Given the description of an element on the screen output the (x, y) to click on. 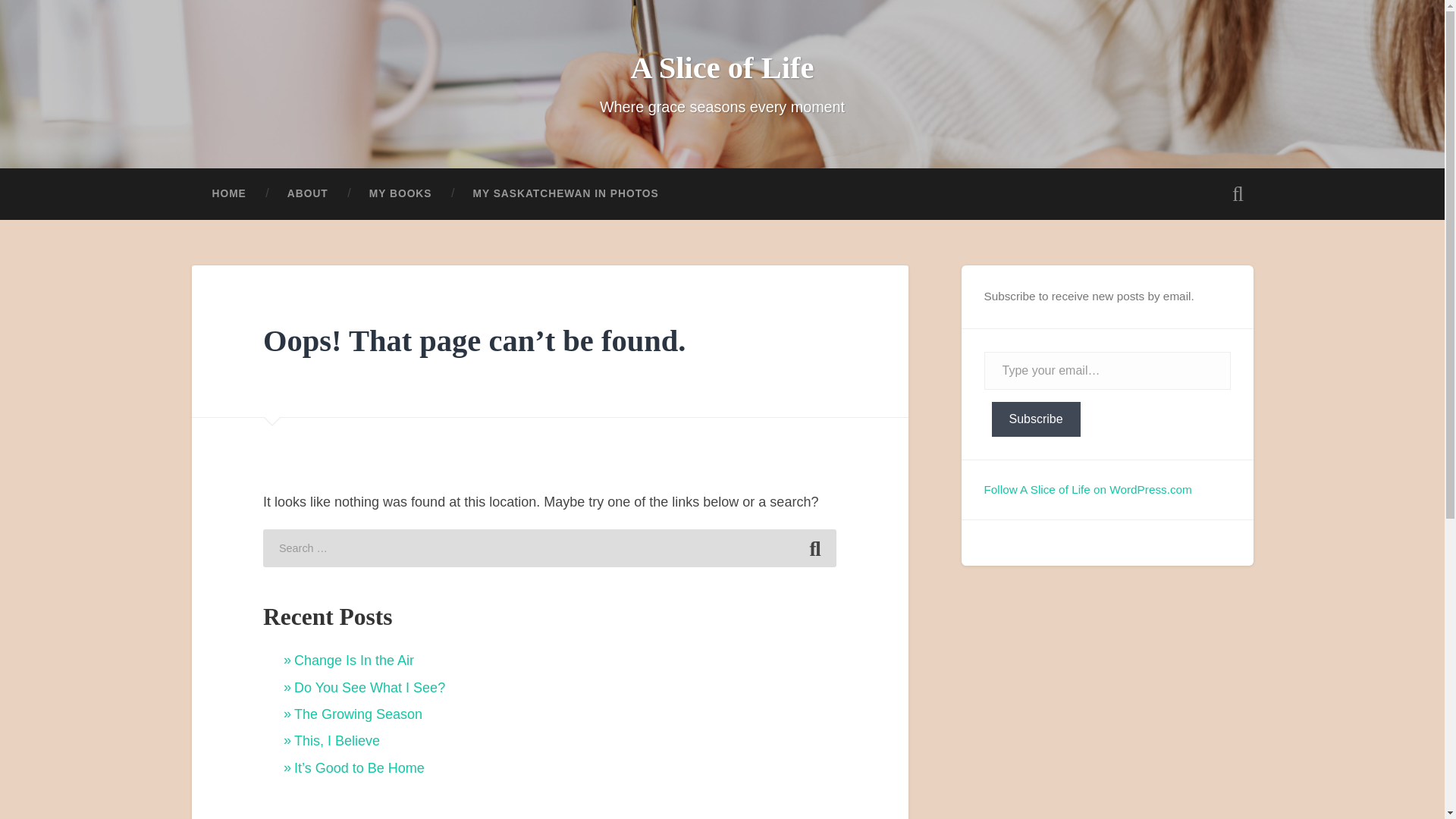
A Slice of Life (721, 67)
The Growing Season (358, 713)
HOME (228, 194)
Change Is In the Air (353, 660)
This, I Believe (337, 740)
Follow A Slice of Life on WordPress.com (1088, 488)
Please fill in this field. (1107, 370)
ABOUT (307, 194)
Subscribe (1035, 419)
Search (815, 547)
